Given the description of an element on the screen output the (x, y) to click on. 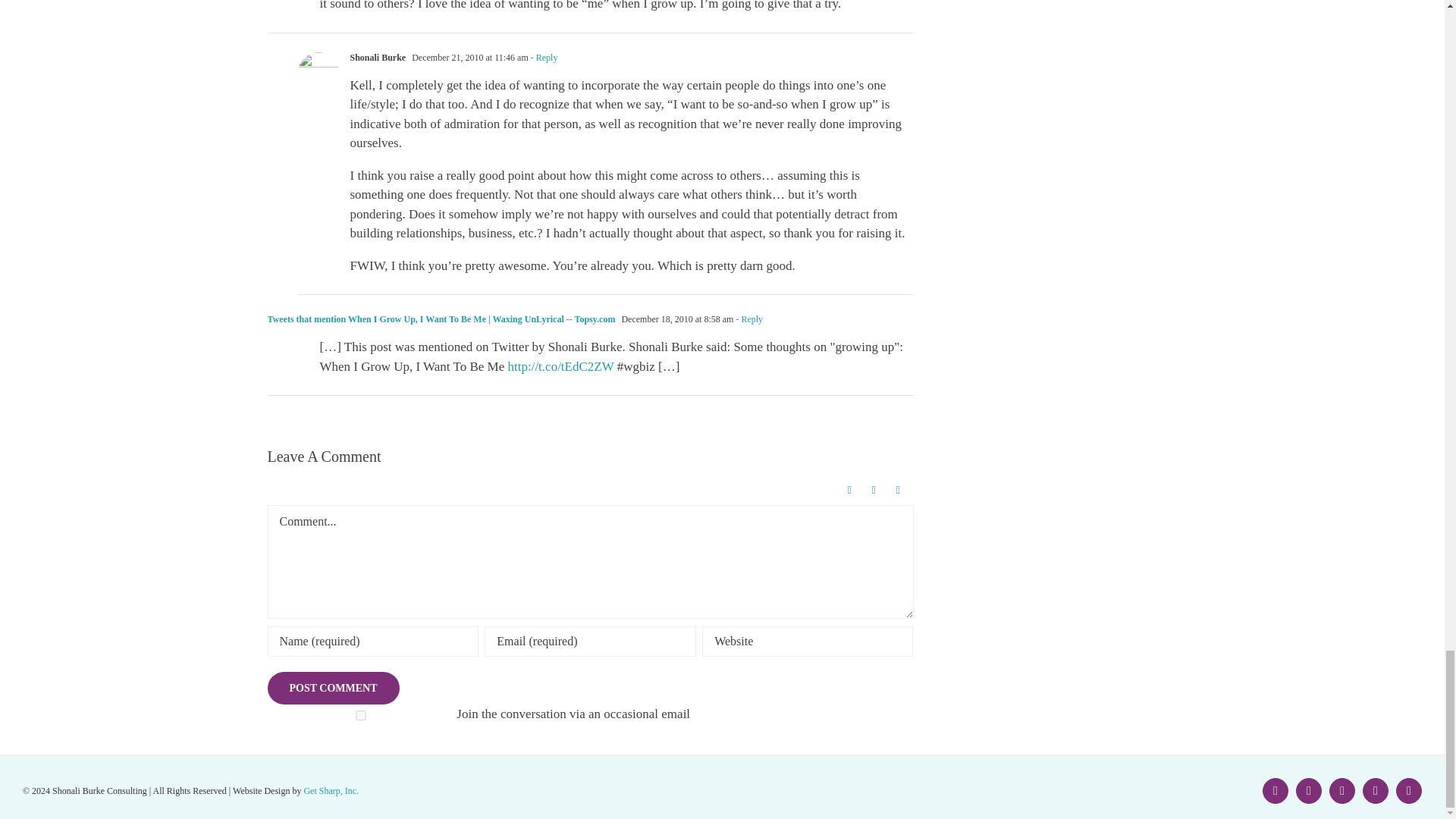
1 (360, 715)
Post Comment (332, 687)
Comment via WordPress.com (852, 490)
